Given the description of an element on the screen output the (x, y) to click on. 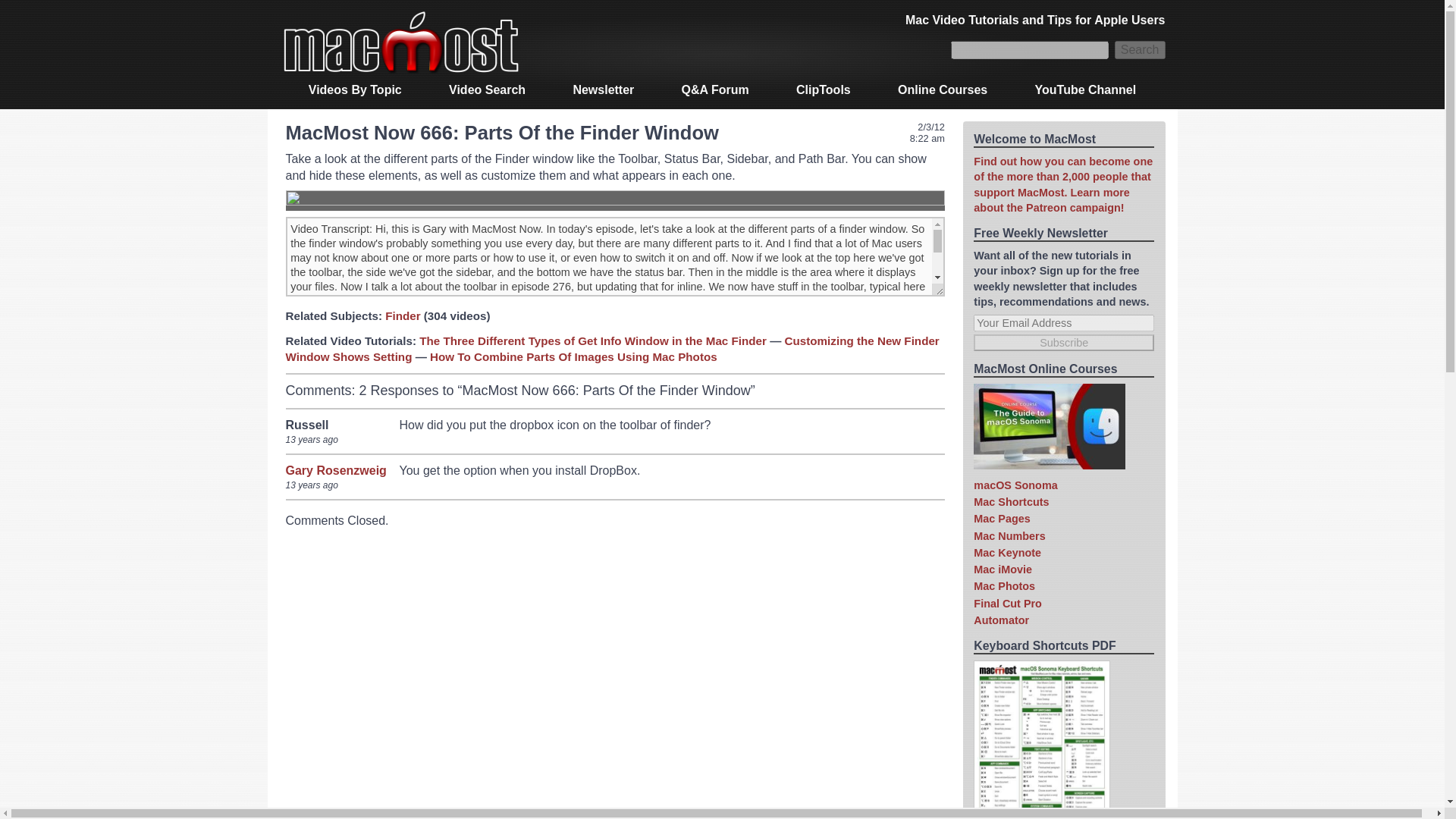
Mac iMovie (1003, 569)
Mac Pages (1001, 518)
macOS Sonoma (1015, 485)
Automator (1001, 620)
Videos By Topic (354, 90)
How To Combine Parts Of Images Using Mac Photos (573, 356)
Final Cut Pro (1008, 603)
Mac Numbers (1009, 535)
Newsletter (602, 90)
